Given the description of an element on the screen output the (x, y) to click on. 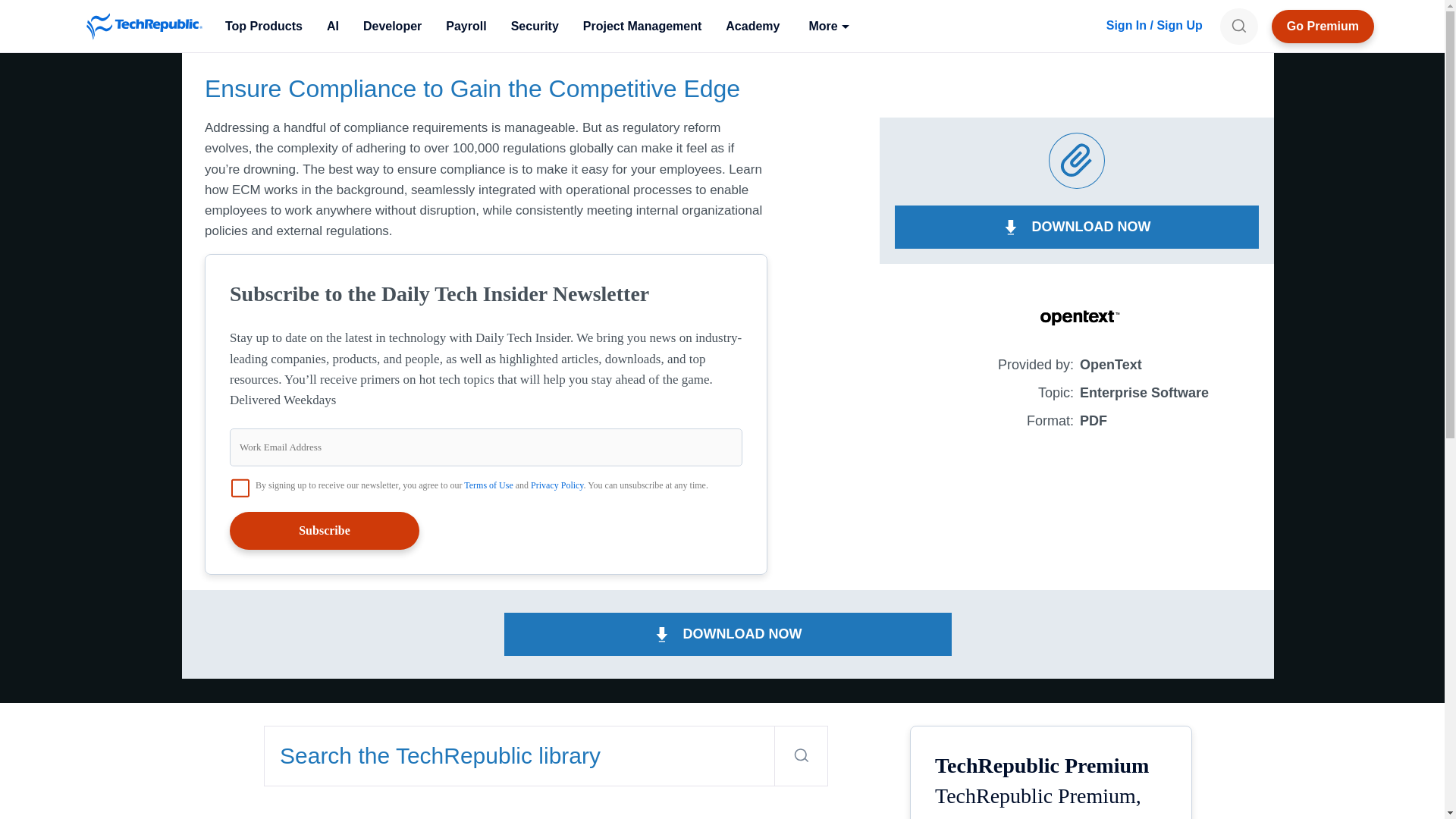
TechRepublic (143, 25)
Developer (392, 26)
Subscribe (324, 530)
Security (534, 26)
Terms of Use (488, 484)
Project Management (641, 26)
on (239, 488)
TechRepublic Premium (1322, 25)
Payroll (465, 26)
Go Premium (1322, 25)
Academy (752, 26)
Privacy Policy (557, 484)
Top Products (263, 26)
DOWNLOAD NOW (1077, 226)
TechRepublic (143, 25)
